Given the description of an element on the screen output the (x, y) to click on. 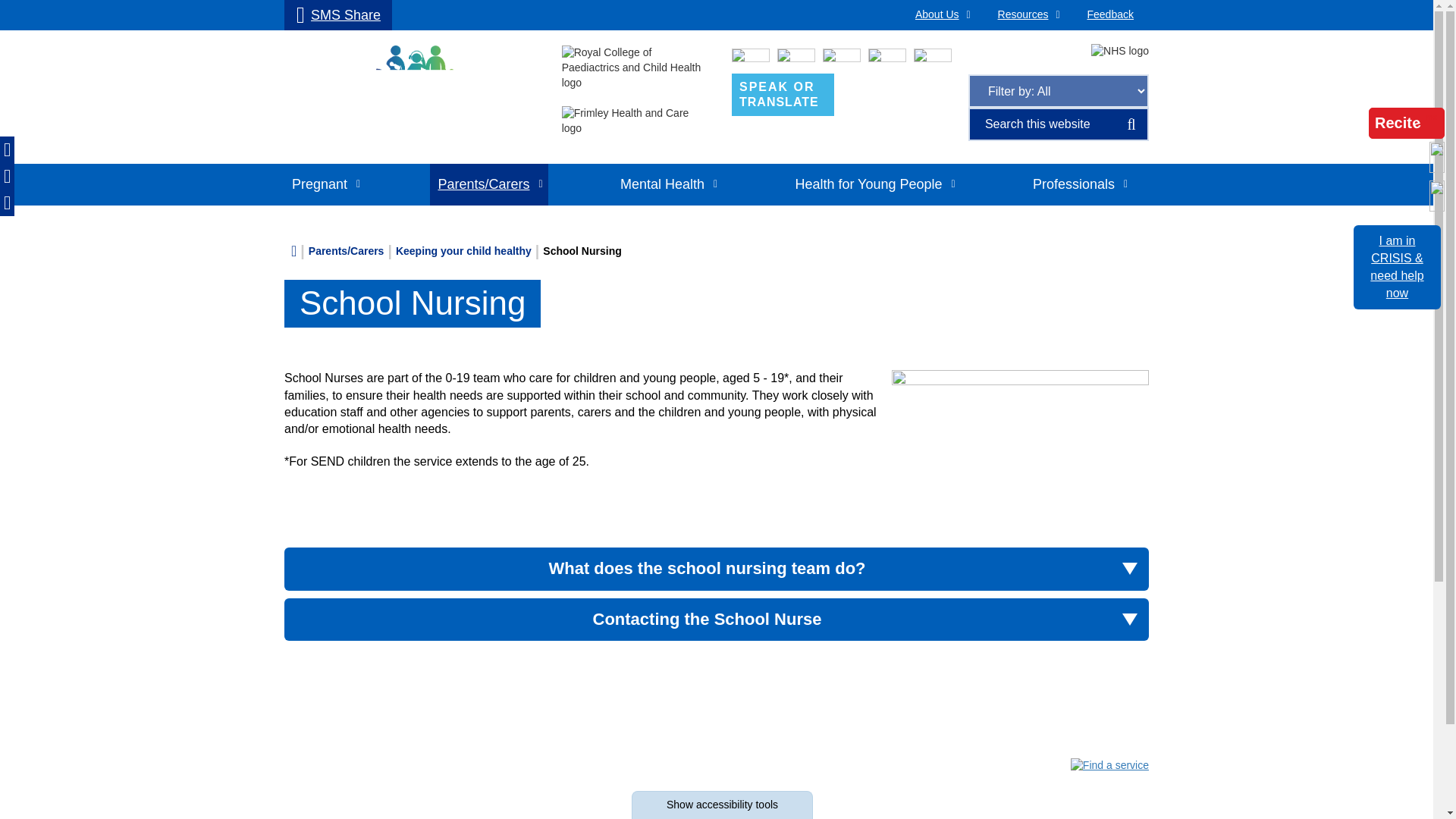
Homepage (783, 94)
SMS Share (410, 96)
Pregnant (337, 15)
Feedback (324, 184)
About Us (1109, 15)
Send this link to a friend via text message! (940, 15)
Resources (337, 15)
Search (1026, 15)
